Given the description of an element on the screen output the (x, y) to click on. 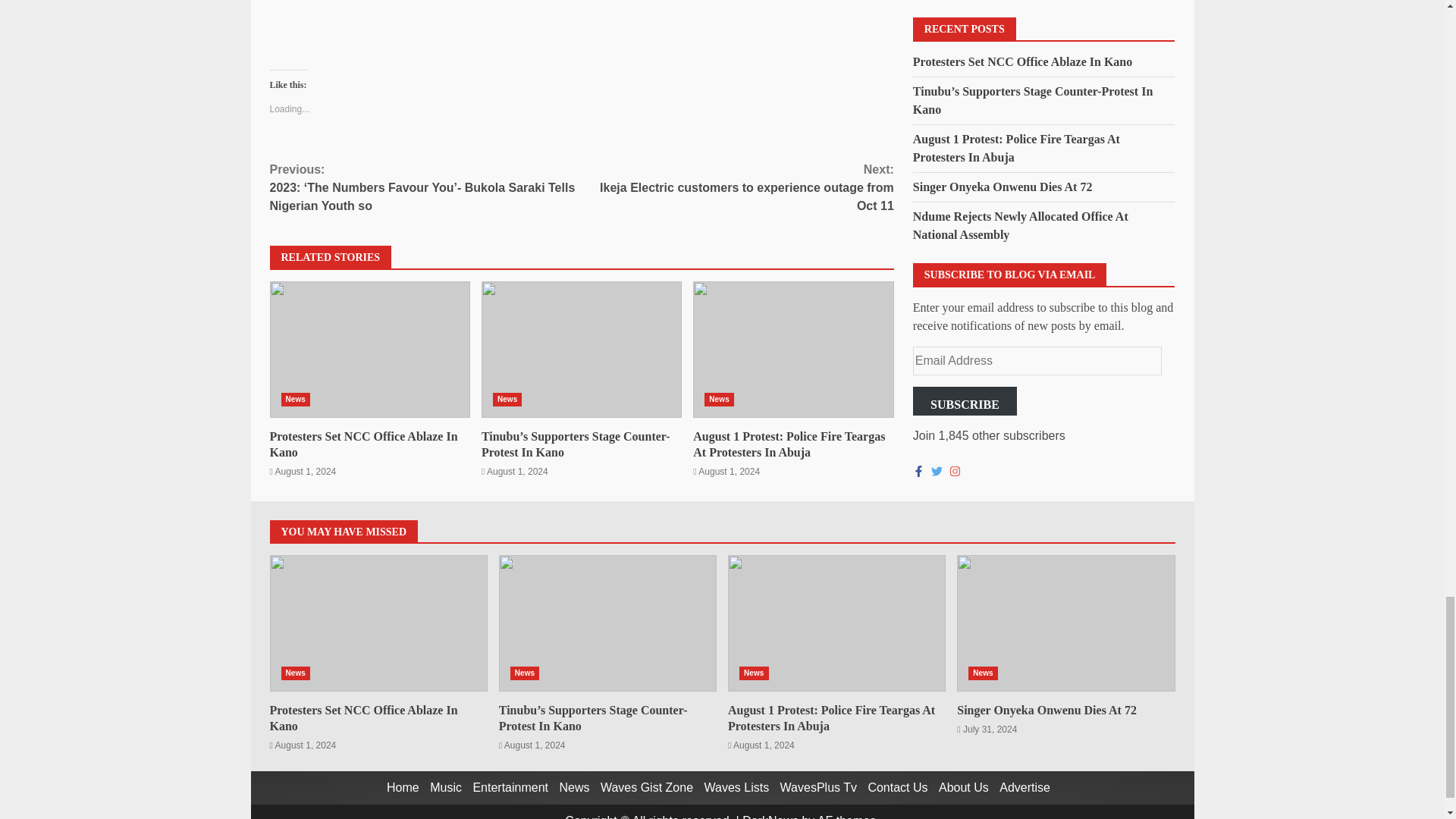
News (295, 399)
Protesters Set NCC Office Ablaze In Kano (369, 349)
